Given the description of an element on the screen output the (x, y) to click on. 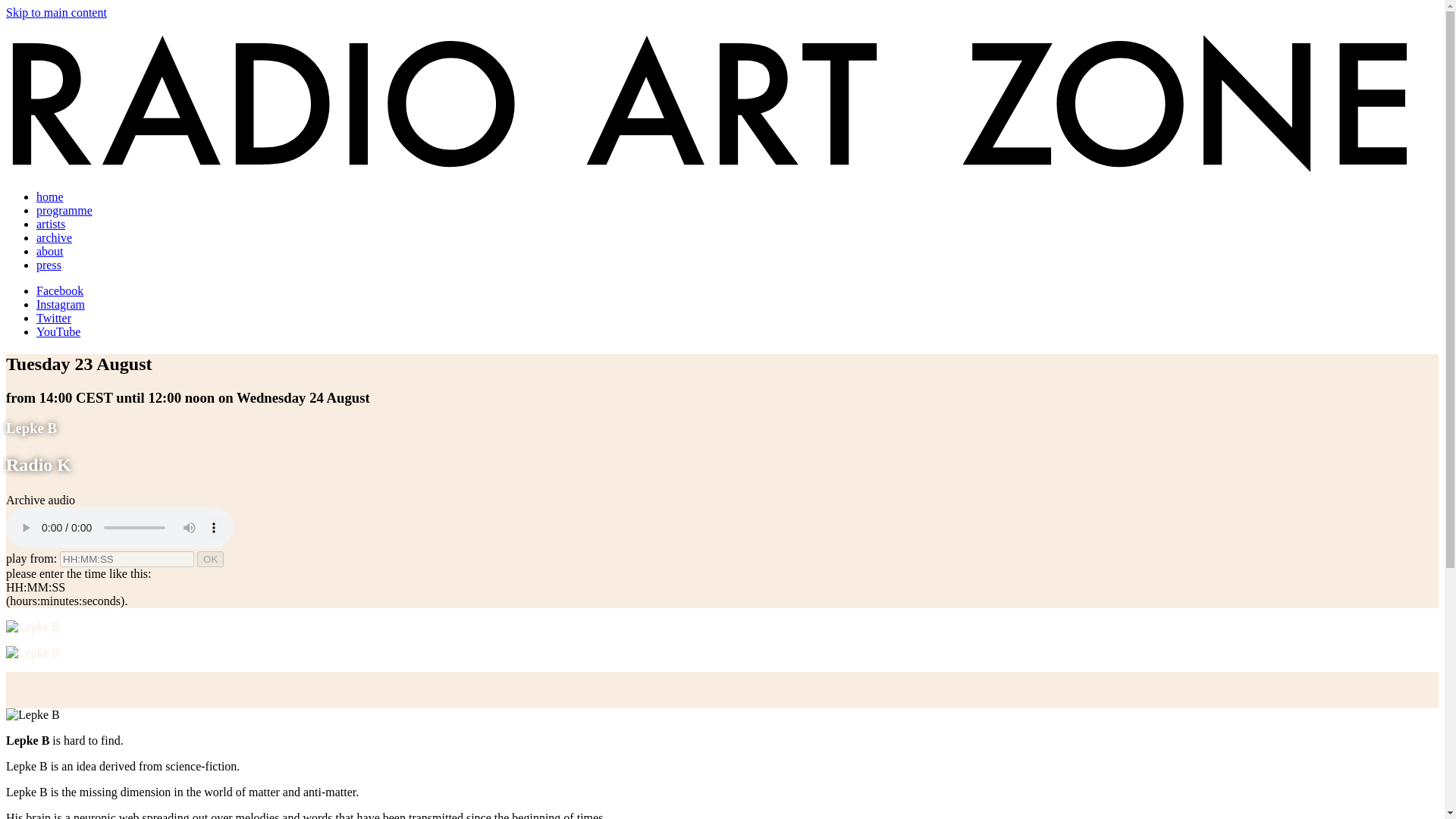
home (50, 196)
press (48, 264)
about (50, 250)
YouTube (58, 331)
Facebook (59, 290)
artists (50, 223)
Skip to main content (55, 11)
archive (53, 237)
Twitter (53, 318)
programme (64, 210)
OK (210, 559)
Instagram (60, 304)
